Given the description of an element on the screen output the (x, y) to click on. 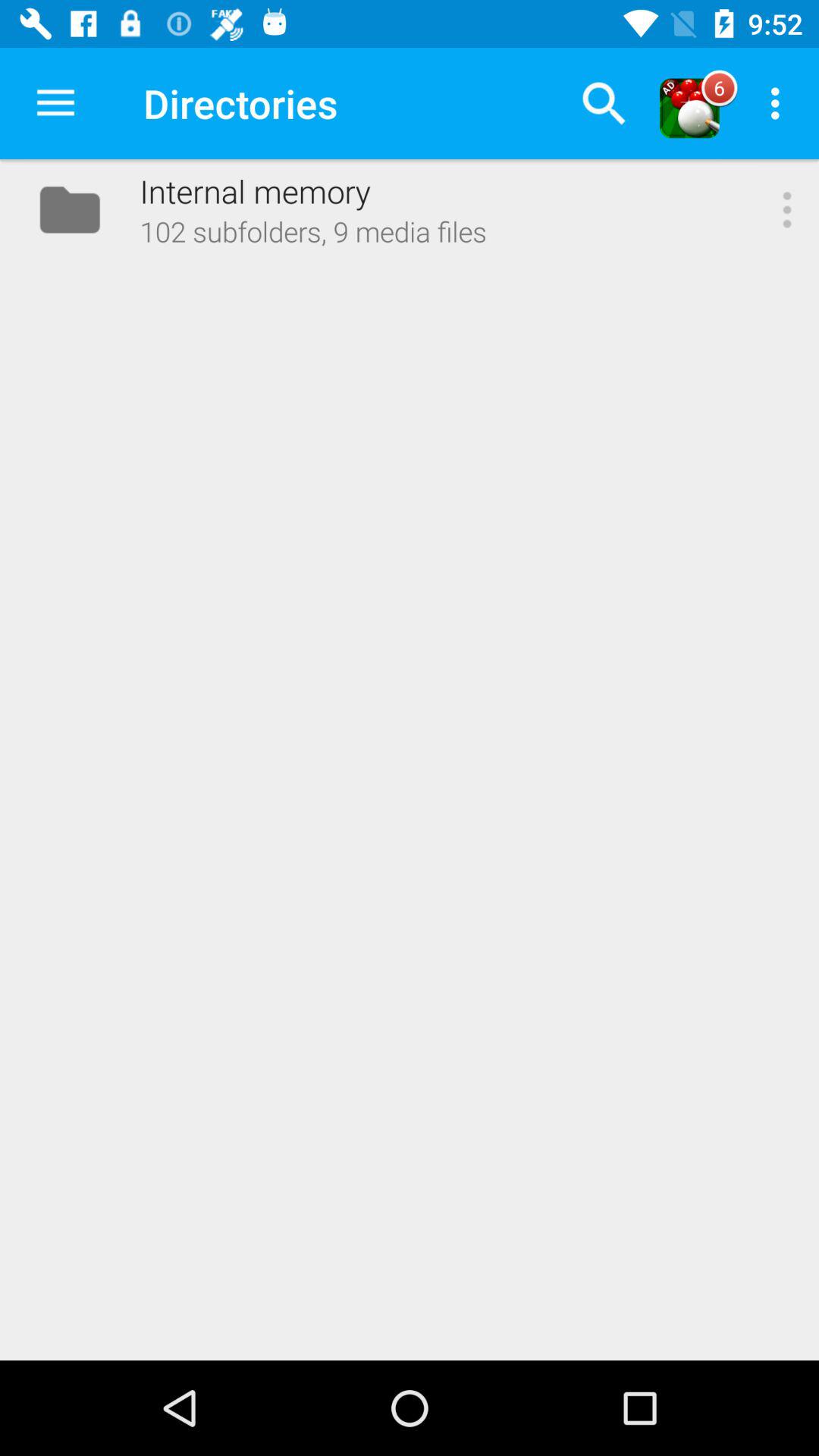
tap the app next to directories app (603, 103)
